Given the description of an element on the screen output the (x, y) to click on. 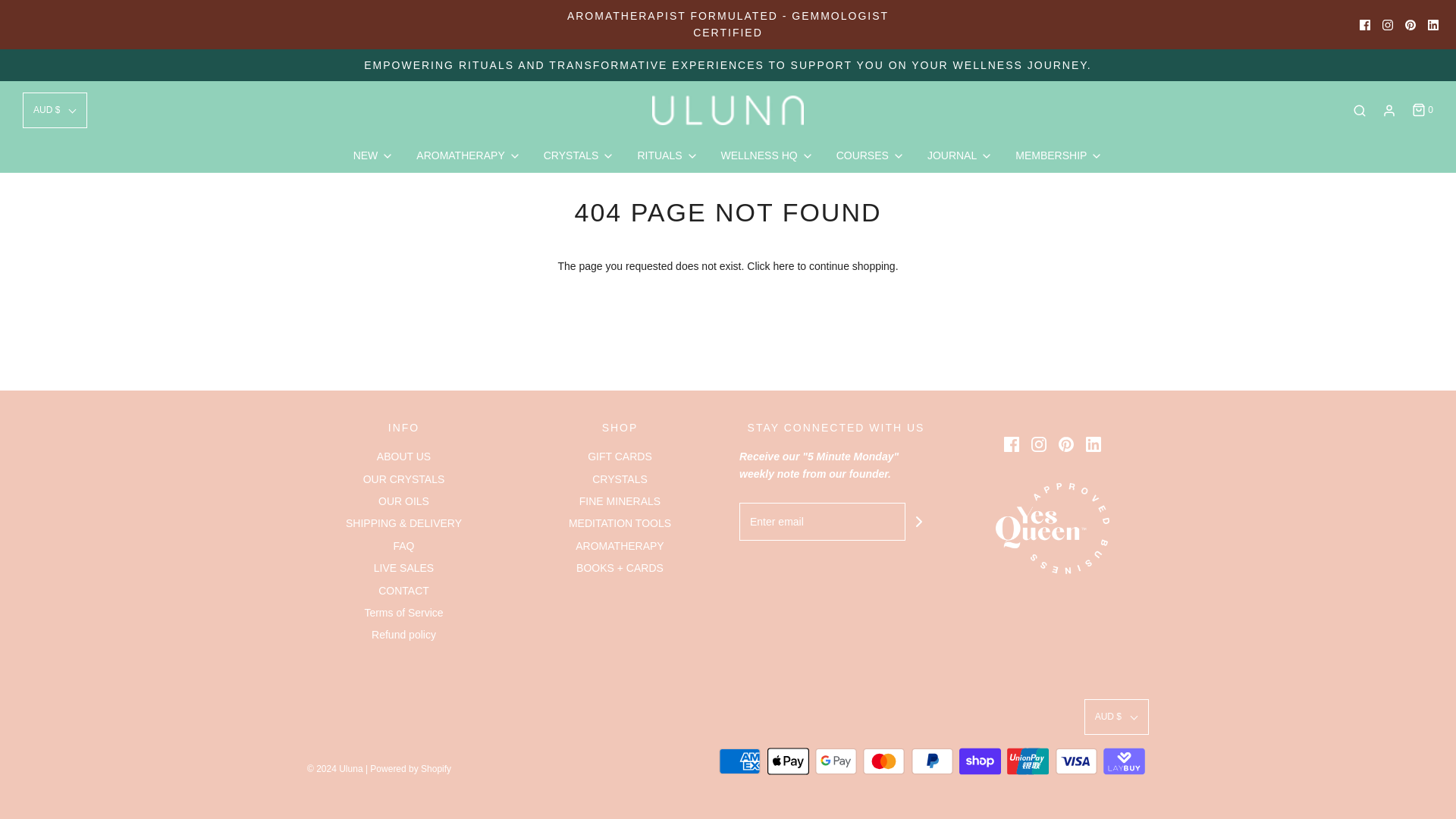
Search (1359, 110)
INSTAGRAM ICON (1387, 24)
Facebook icon (1011, 444)
FACEBOOK ICON (1364, 24)
FACEBOOK ICON (1364, 24)
Instagram icon (1038, 444)
LINKEDIN ICON (1433, 24)
LINKEDIN ICON (1433, 24)
Cart (1420, 110)
Log in (1388, 110)
